Given the description of an element on the screen output the (x, y) to click on. 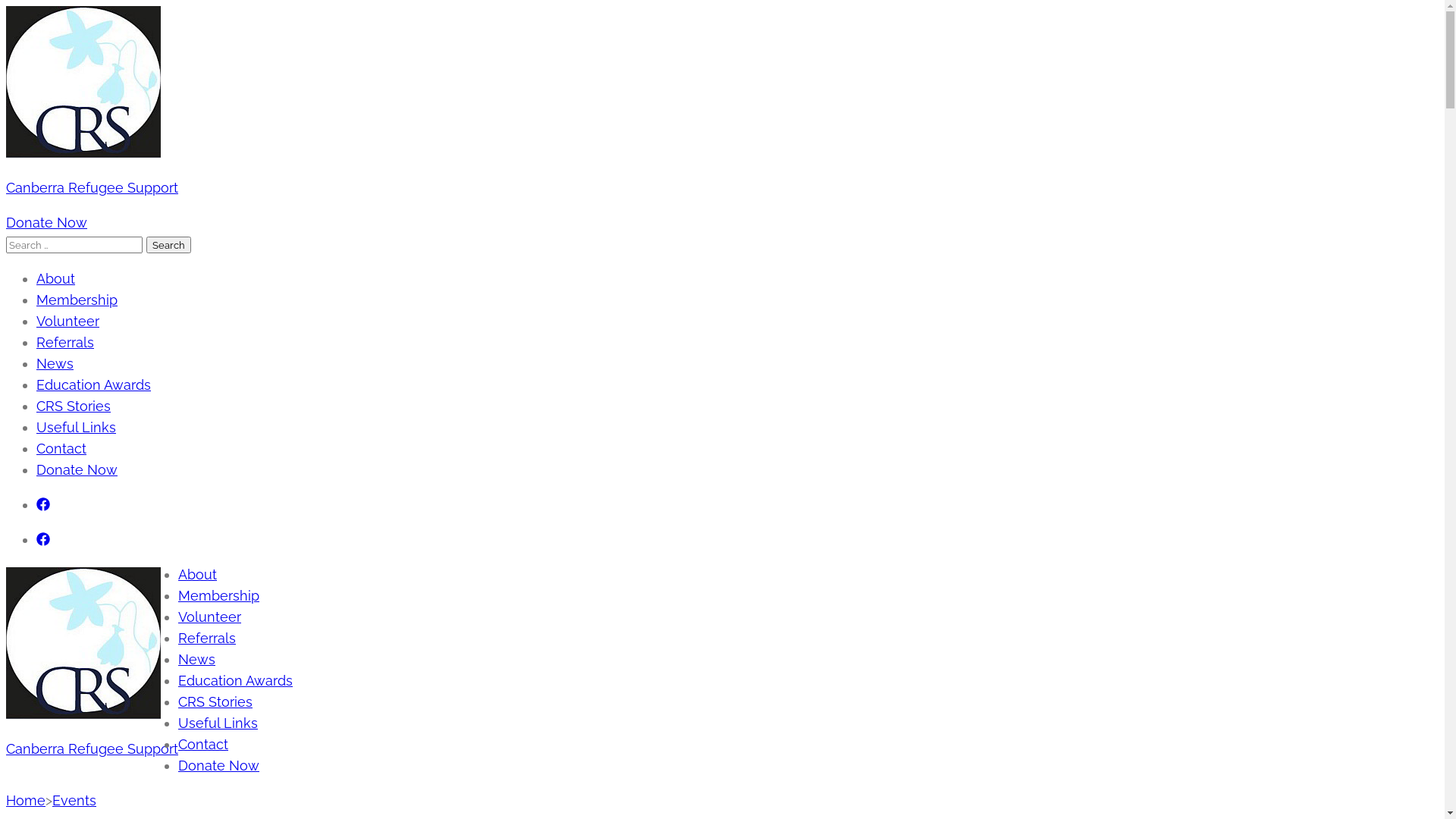
News Element type: text (196, 659)
Education Awards Element type: text (235, 680)
Donate Now Element type: text (218, 765)
About Element type: text (55, 278)
Useful Links Element type: text (76, 427)
Canberra Refugee Support Element type: text (92, 187)
Volunteer Element type: text (209, 616)
CRS Stories Element type: text (215, 701)
Membership Element type: text (218, 595)
News Element type: text (54, 363)
Donate Now Element type: text (46, 222)
Home Element type: text (25, 800)
Referrals Element type: text (65, 342)
Search Element type: text (168, 244)
facebook Element type: hover (43, 539)
facebook Element type: hover (43, 504)
Donate Now Element type: text (76, 469)
Contact Element type: text (203, 744)
Canberra Refugee Support Element type: text (92, 748)
Events Element type: text (74, 800)
Useful Links Element type: text (217, 723)
About Element type: text (197, 574)
Membership Element type: text (76, 299)
Referrals Element type: text (206, 638)
CRS Stories Element type: text (73, 406)
Education Awards Element type: text (93, 384)
Volunteer Element type: text (67, 321)
Contact Element type: text (61, 448)
